Given the description of an element on the screen output the (x, y) to click on. 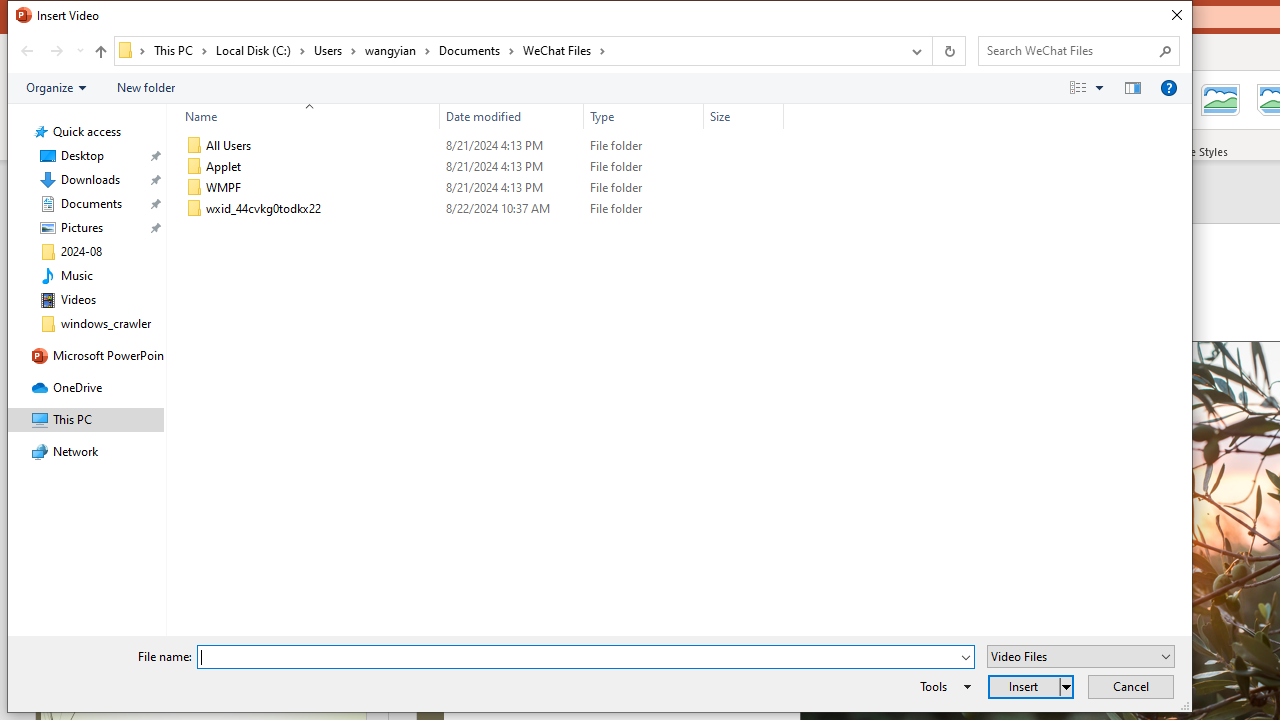
Address: C:\Users\wangyian\Documents\WeChat Files (506, 51)
Name (321, 209)
Files of type: (1080, 656)
Forward (Alt + Right Arrow) (56, 51)
Date modified (511, 115)
Navigation buttons (50, 51)
Views (1090, 87)
Tools (942, 686)
Tools (942, 686)
Organize (56, 87)
Address band toolbar (931, 51)
